Given the description of an element on the screen output the (x, y) to click on. 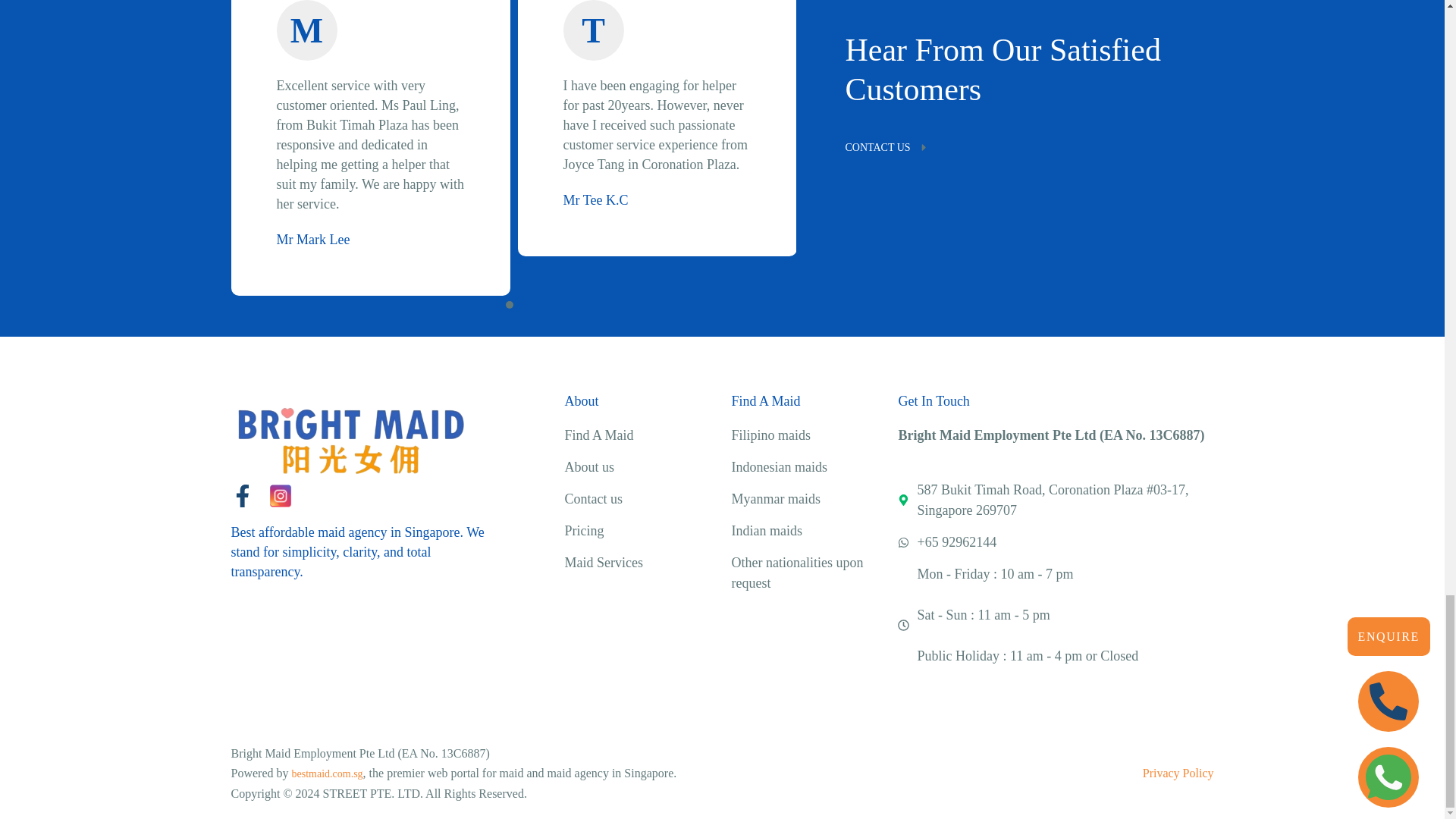
Privacy Policy (1178, 773)
Maid Services (603, 562)
Pricing (584, 530)
CONTACT US (1013, 147)
Filipino maids (770, 435)
Other nationalities upon request (796, 572)
Myanmar maids (774, 498)
Find A Maid (598, 435)
Contact us (593, 498)
Indian maids (766, 530)
